Given the description of an element on the screen output the (x, y) to click on. 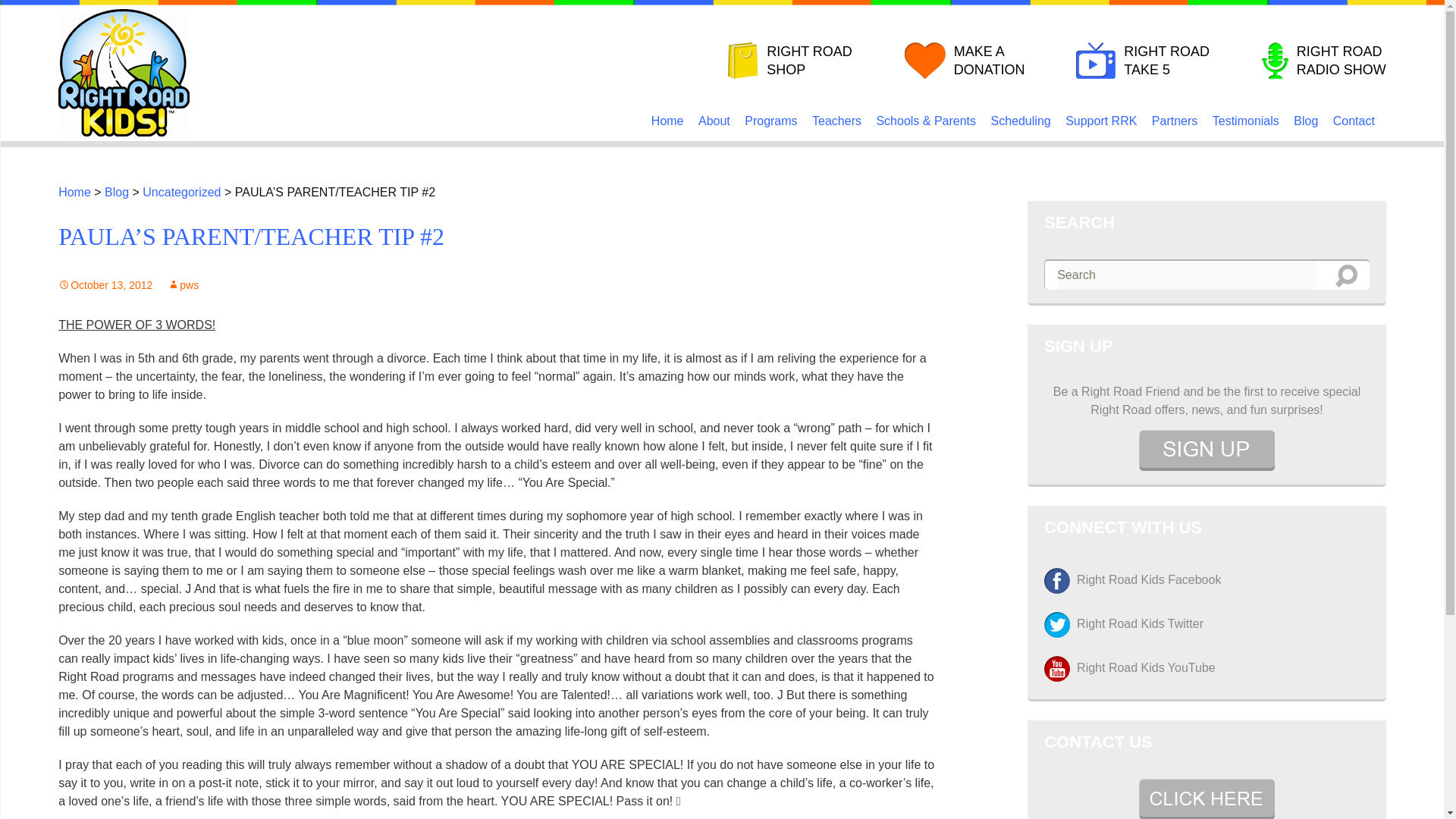
Search (1346, 275)
Search (1346, 275)
View all posts by pws (182, 285)
About (714, 121)
Mission (785, 150)
Go to the Uncategorized category archives. (181, 192)
Home (667, 121)
Programs (770, 121)
